Given the description of an element on the screen output the (x, y) to click on. 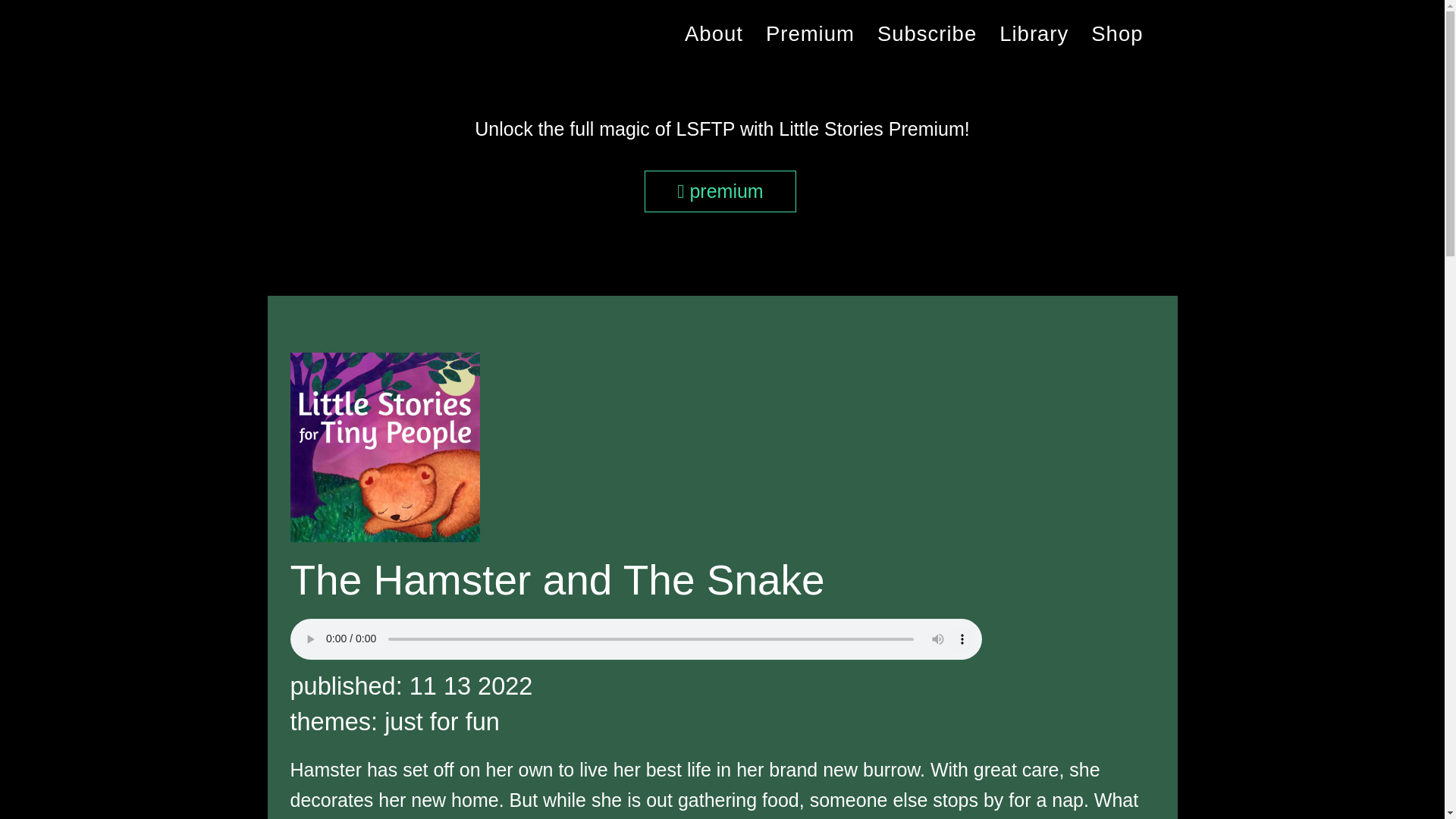
Premium (810, 34)
About (713, 34)
premium (810, 34)
About (713, 34)
Premium (810, 34)
premium (720, 191)
about (713, 34)
